Given the description of an element on the screen output the (x, y) to click on. 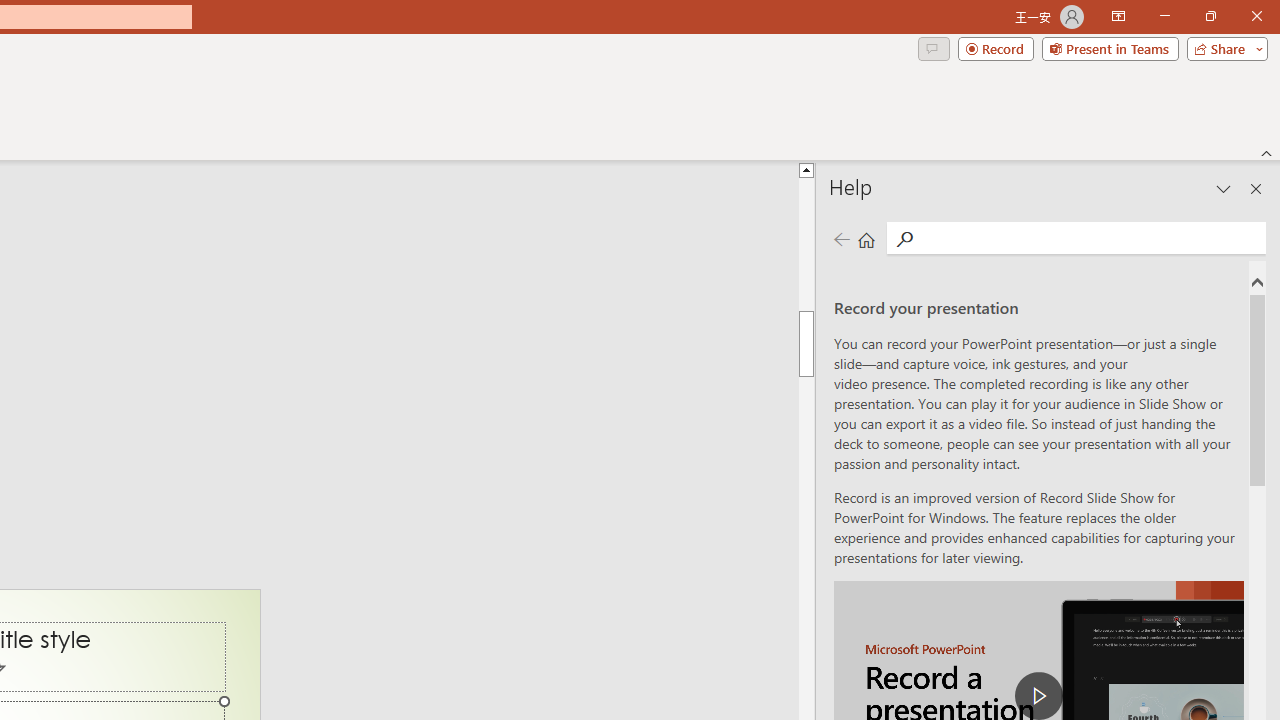
Search (1089, 237)
Previous page (841, 238)
play Record a Presentation (1038, 695)
Search (904, 238)
Line up (806, 169)
